Given the description of an element on the screen output the (x, y) to click on. 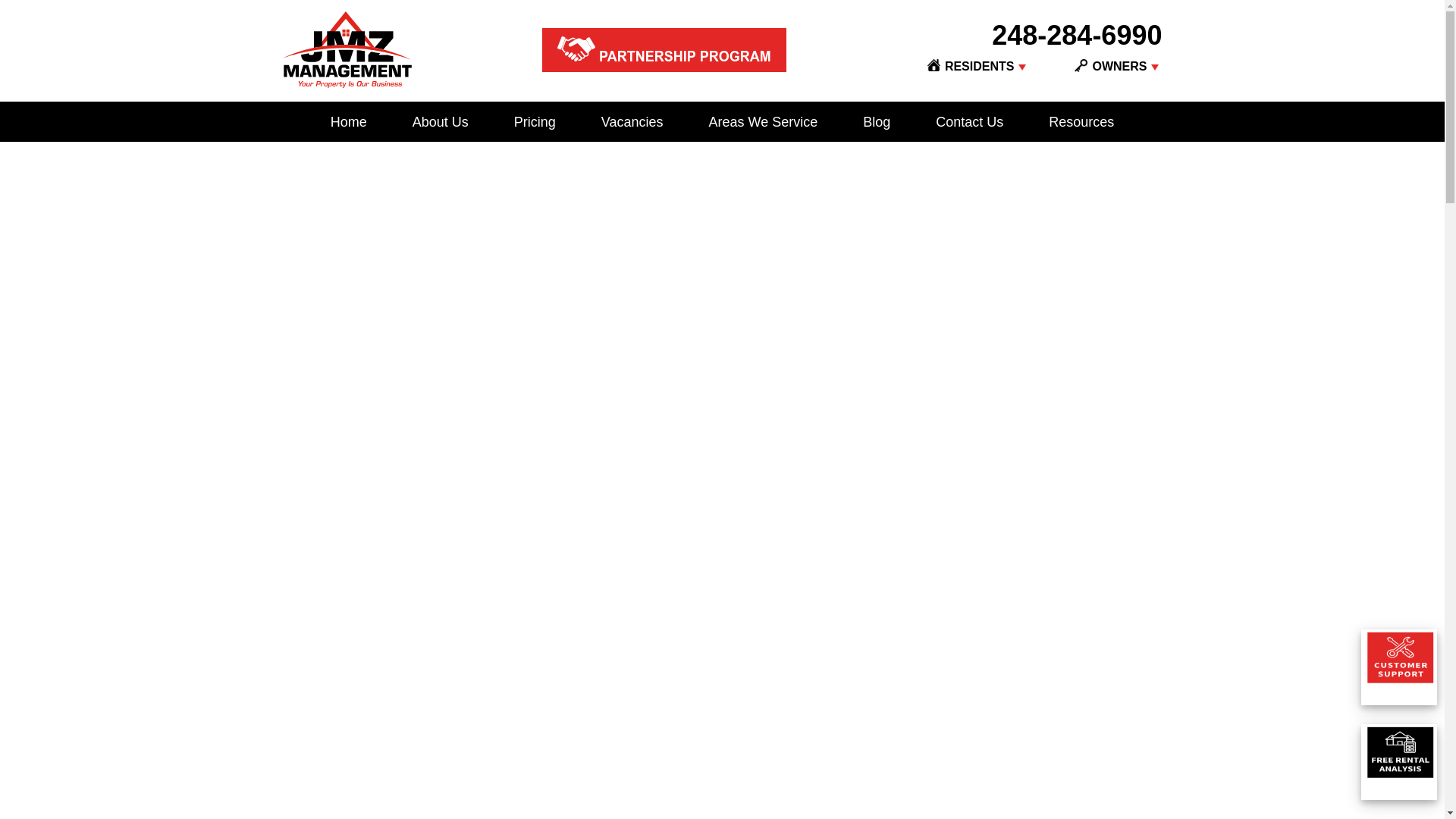
JMZ-Logo-Final-White-BG (346, 49)
Resources (1080, 122)
Blog (876, 122)
RESIDENTS (970, 66)
Contact Us (969, 122)
Home (348, 122)
GET A FREE RENTAL ANALYSIS (722, 326)
About Us (440, 122)
Vacancies (632, 122)
Areas We Service (761, 122)
